Given the description of an element on the screen output the (x, y) to click on. 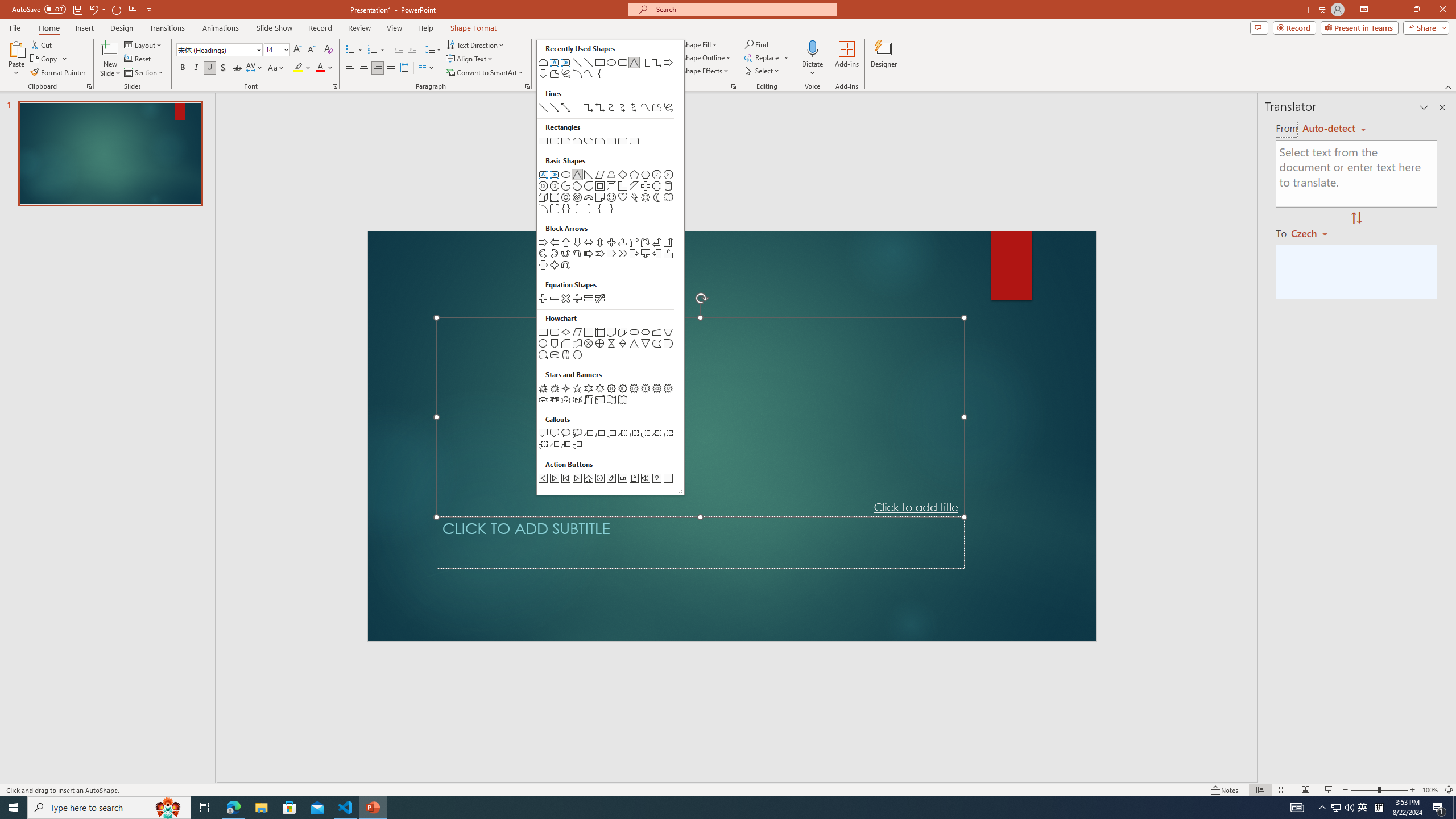
Class: Net UI Tool Window (609, 267)
Action Center, 1 new notification (1439, 807)
Change Case (276, 67)
Find... (756, 44)
